Given the description of an element on the screen output the (x, y) to click on. 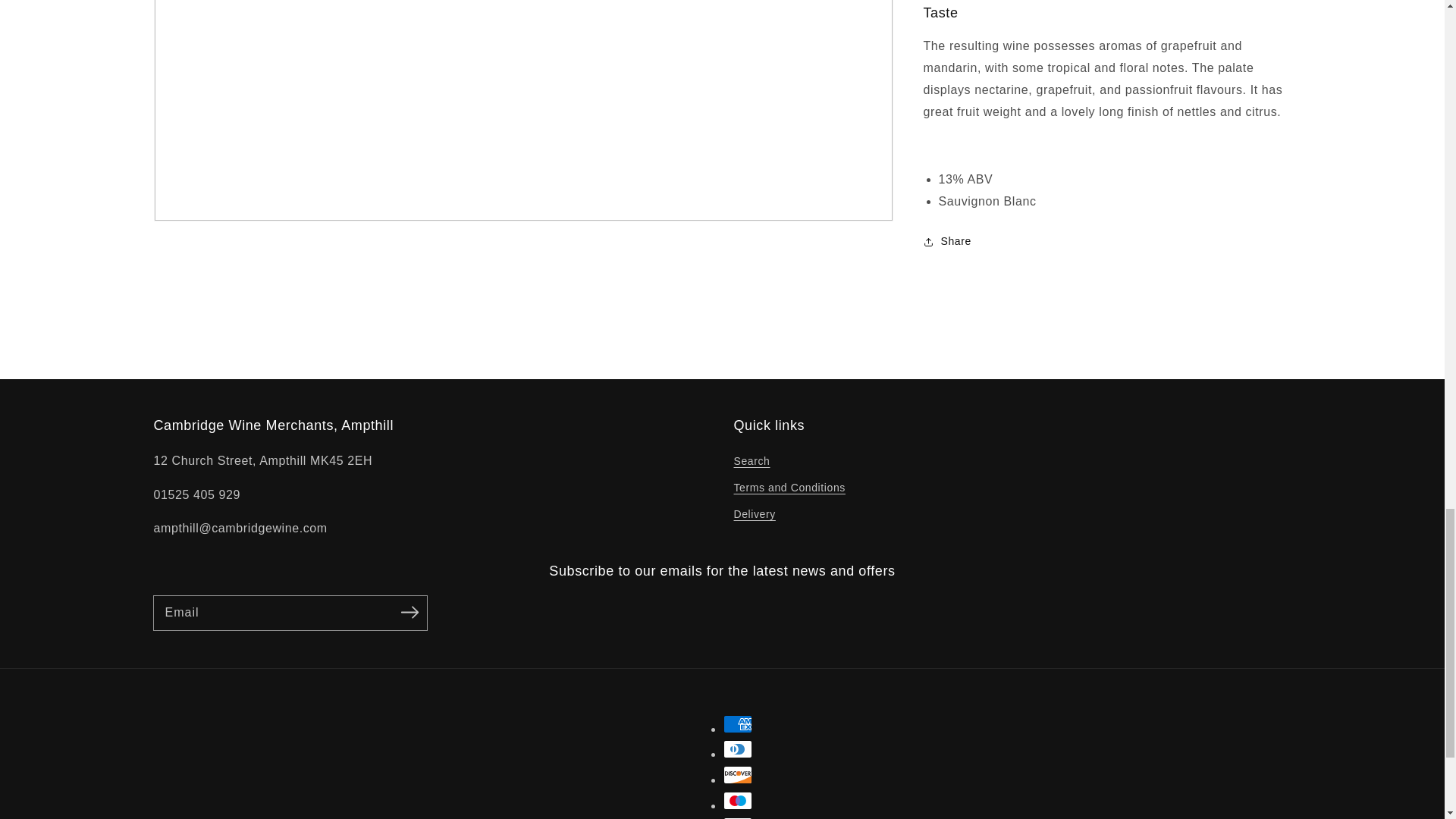
Terms and Conditions (789, 488)
American Express (737, 723)
Mastercard (737, 818)
Maestro (737, 800)
Discover (737, 774)
Diners Club (737, 749)
Search (751, 463)
Delivery (754, 514)
